Given the description of an element on the screen output the (x, y) to click on. 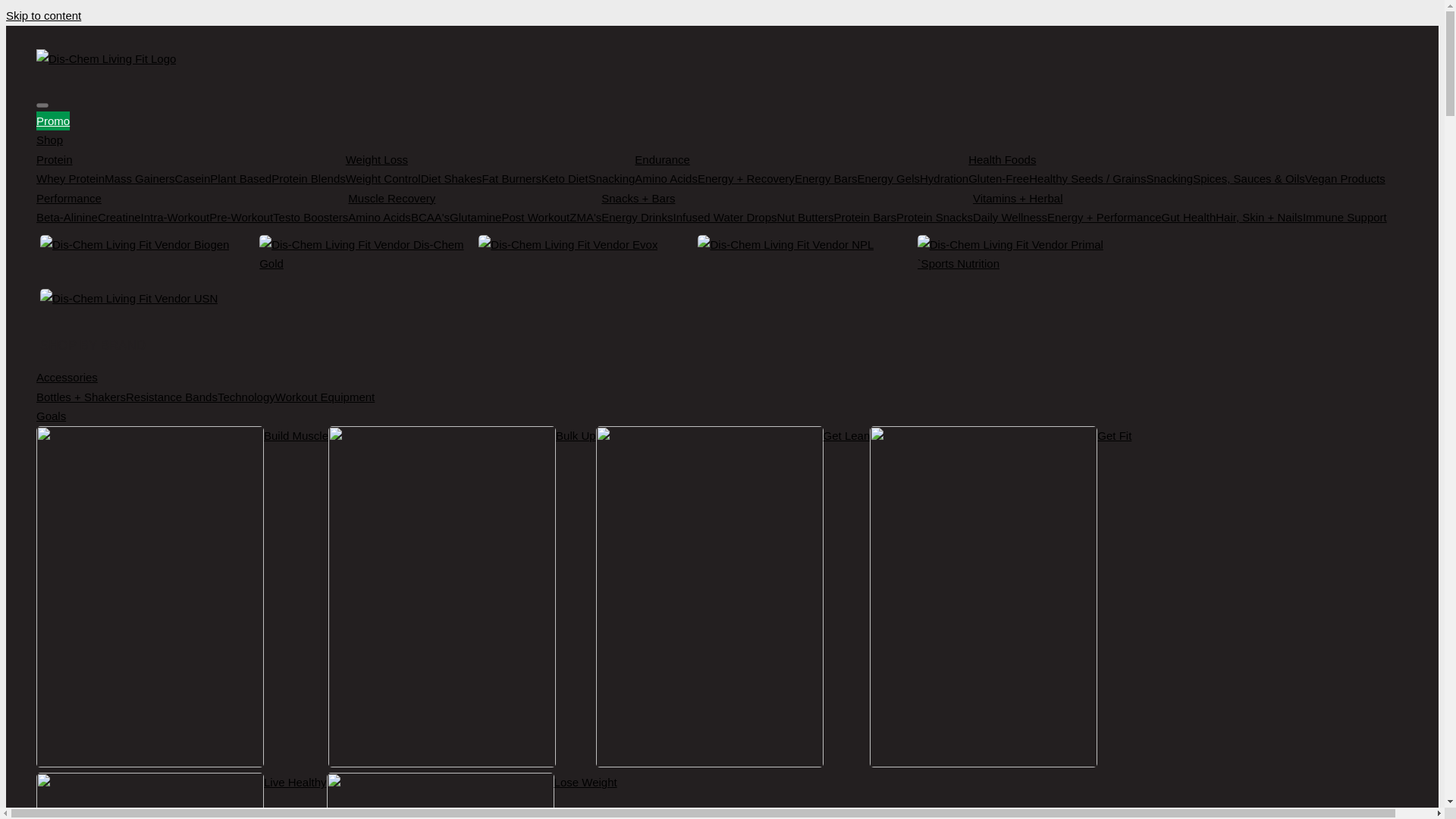
Muscle Recovery (474, 198)
Keto Diet (564, 178)
Weight Loss (490, 159)
Endurance (801, 159)
Health Foods (1177, 159)
Hydration (944, 178)
Promo (52, 120)
Beta-Alinine (66, 217)
Whey Protein (70, 178)
Casein (192, 178)
Glutamine (474, 217)
Testo Boosters (310, 217)
Energy Bars (825, 178)
Snacking (611, 178)
Performance (191, 198)
